Given the description of an element on the screen output the (x, y) to click on. 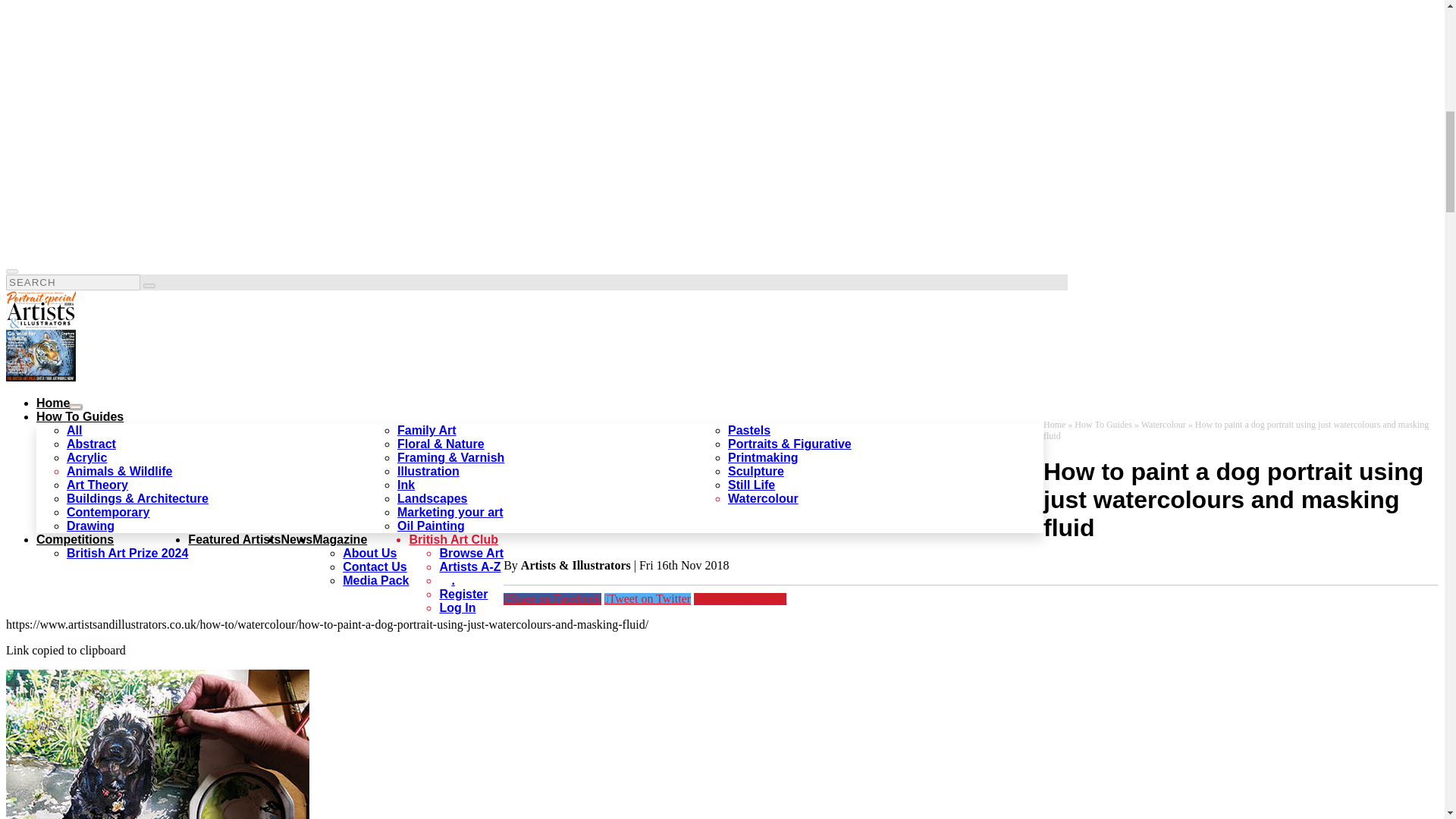
Share on Pinterest (740, 598)
Tweet on twitter (647, 598)
Share on Facebook (551, 598)
